Given the description of an element on the screen output the (x, y) to click on. 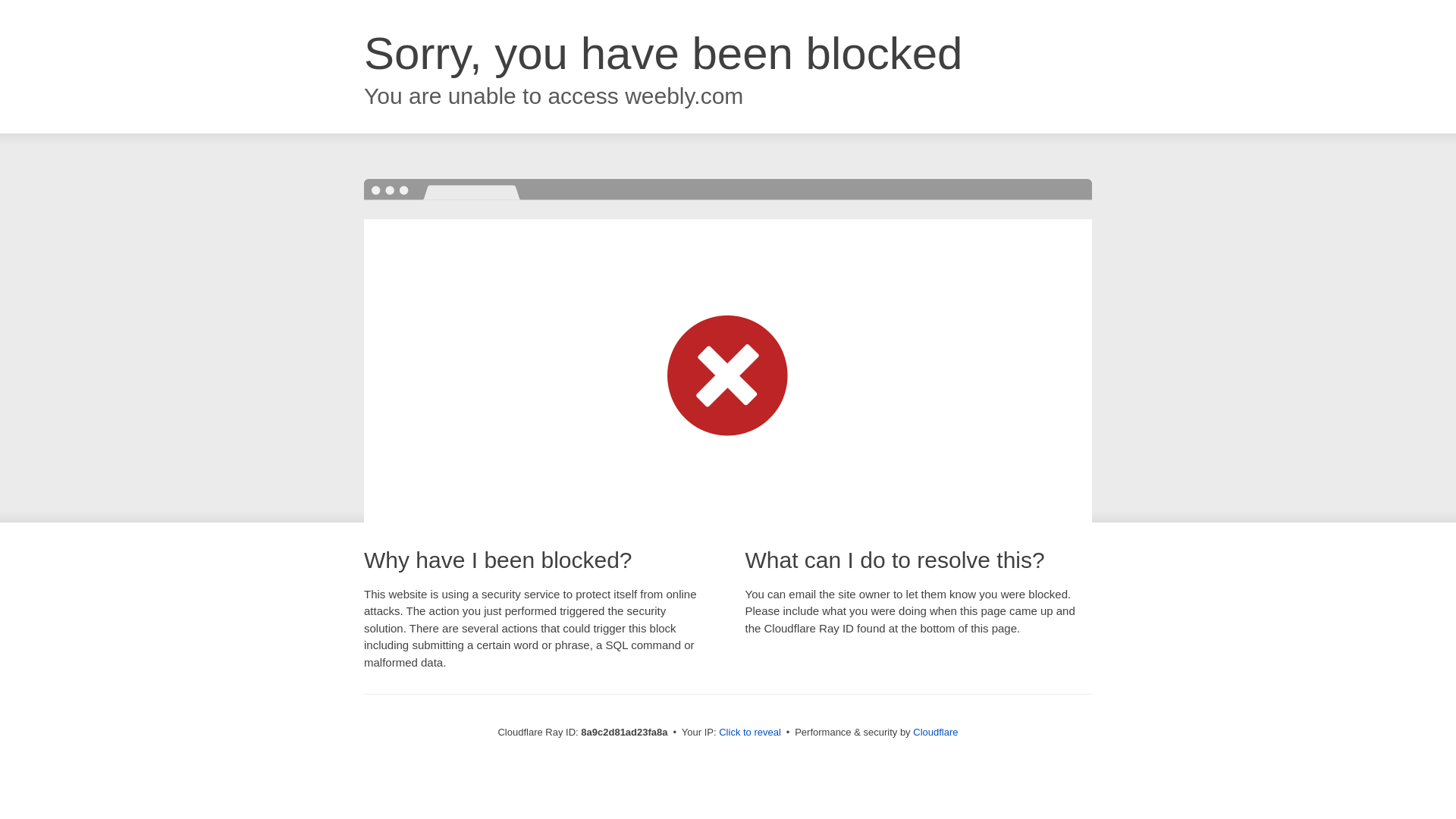
Click to reveal (749, 732)
Cloudflare (935, 731)
